Given the description of an element on the screen output the (x, y) to click on. 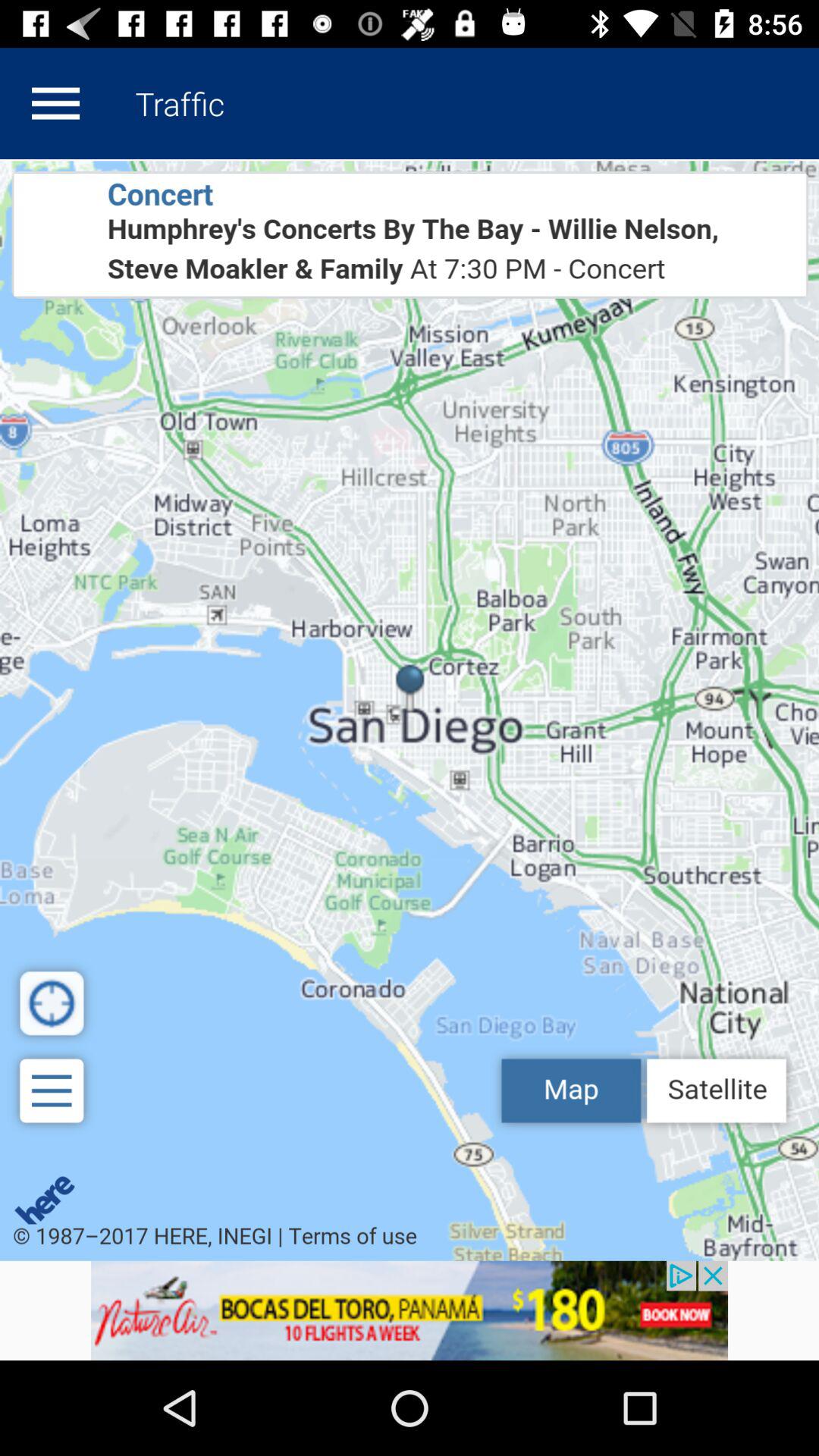
click to view all (409, 709)
